Given the description of an element on the screen output the (x, y) to click on. 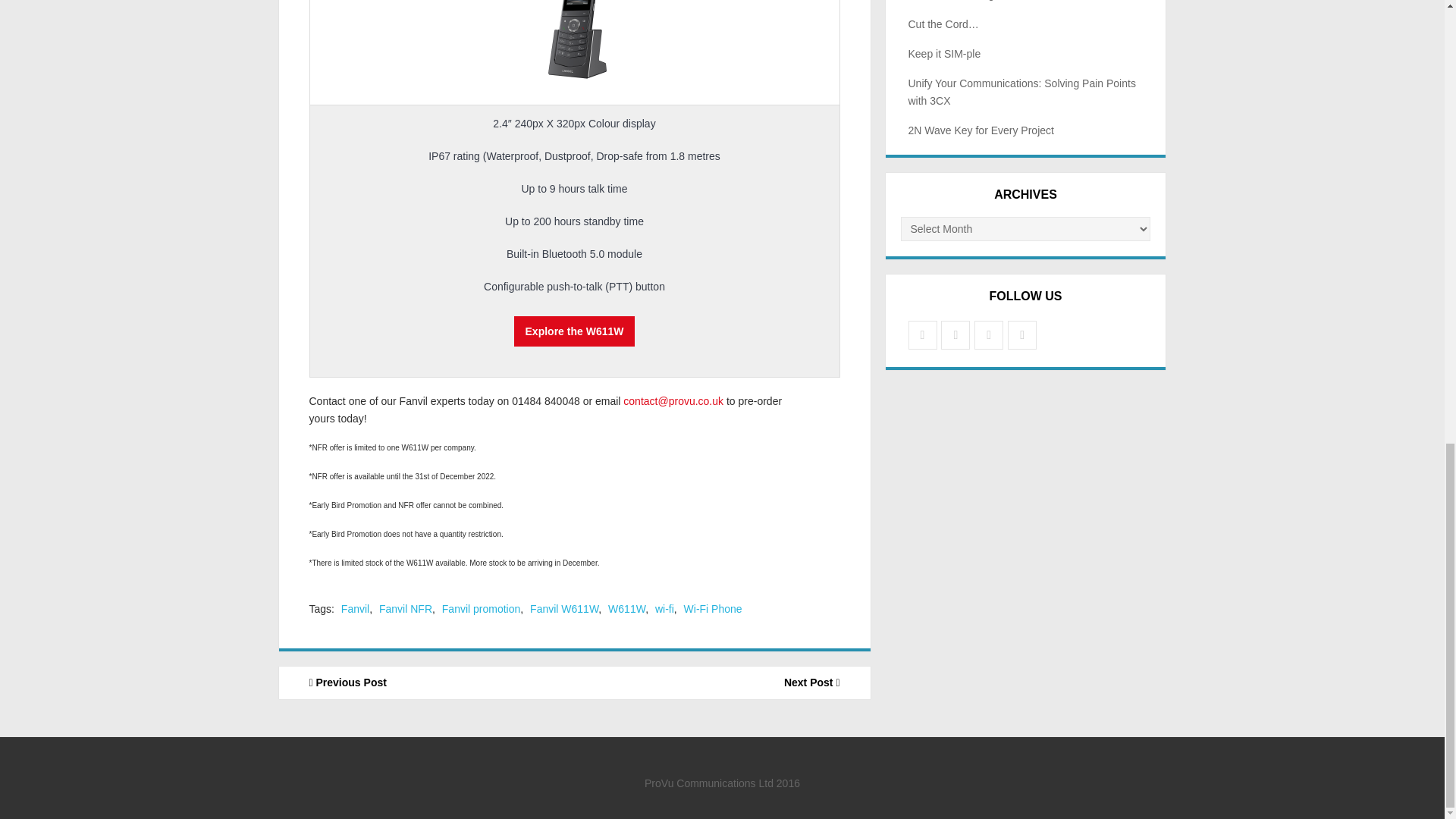
Fanvil NFR (405, 608)
Explore the W611W (573, 331)
Fanvil promotion (481, 608)
wi-fi (664, 608)
Fanvil (354, 608)
Wi-Fi Phone (713, 608)
Fanvil W611W (563, 608)
Previous Post (427, 682)
Next Post (722, 682)
W611W (626, 608)
